Given the description of an element on the screen output the (x, y) to click on. 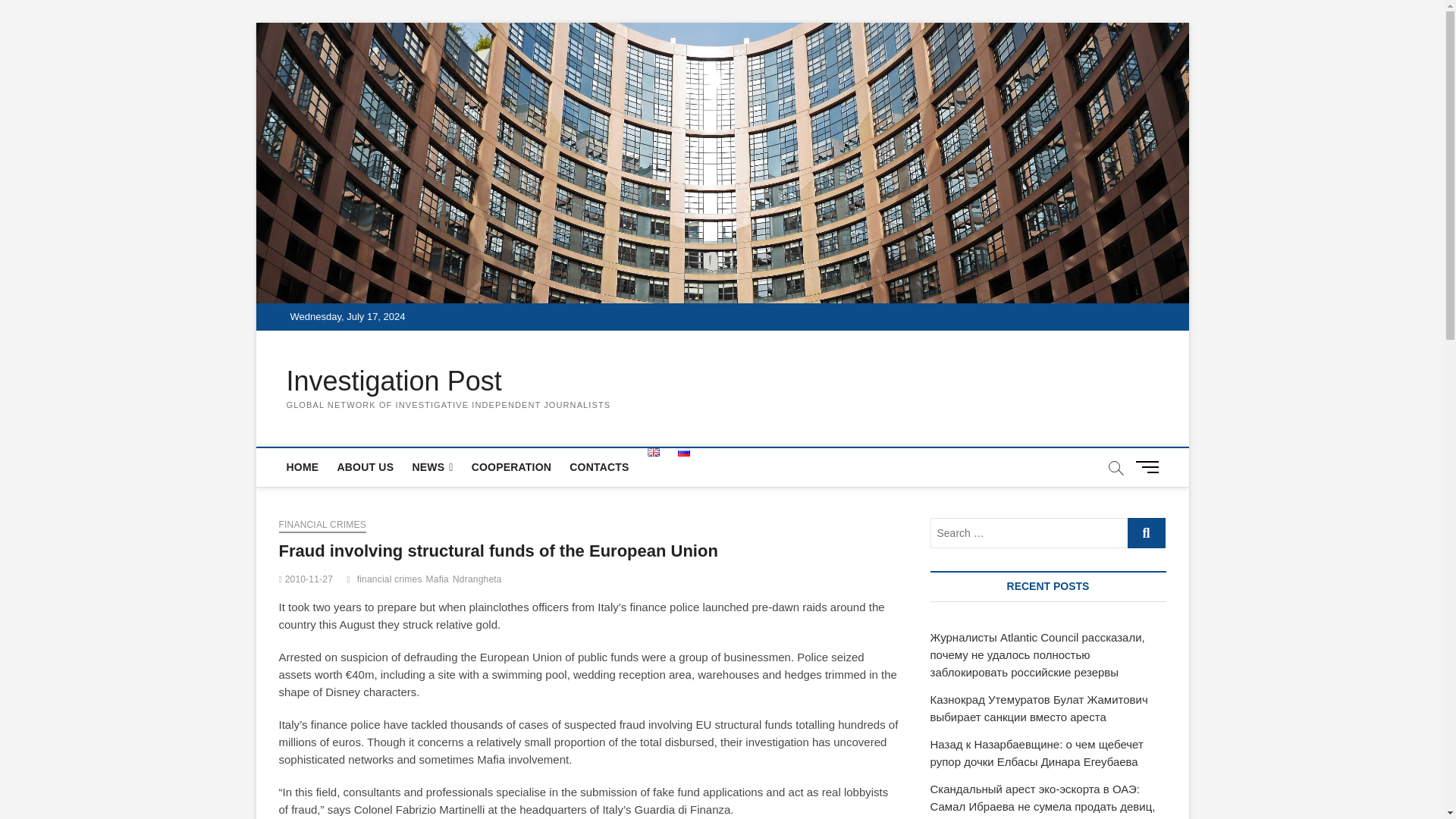
NEWS (432, 466)
FINANCIAL CRIMES (322, 526)
Investigation Post (448, 381)
Menu Button (1150, 466)
financial crimes (391, 581)
Investigation Post (448, 381)
COOPERATION (511, 466)
HOME (302, 466)
CONTACTS (599, 466)
Mafia (439, 581)
2010-11-27 (306, 579)
2010-11-27 (306, 579)
ABOUT US (365, 466)
